Given the description of an element on the screen output the (x, y) to click on. 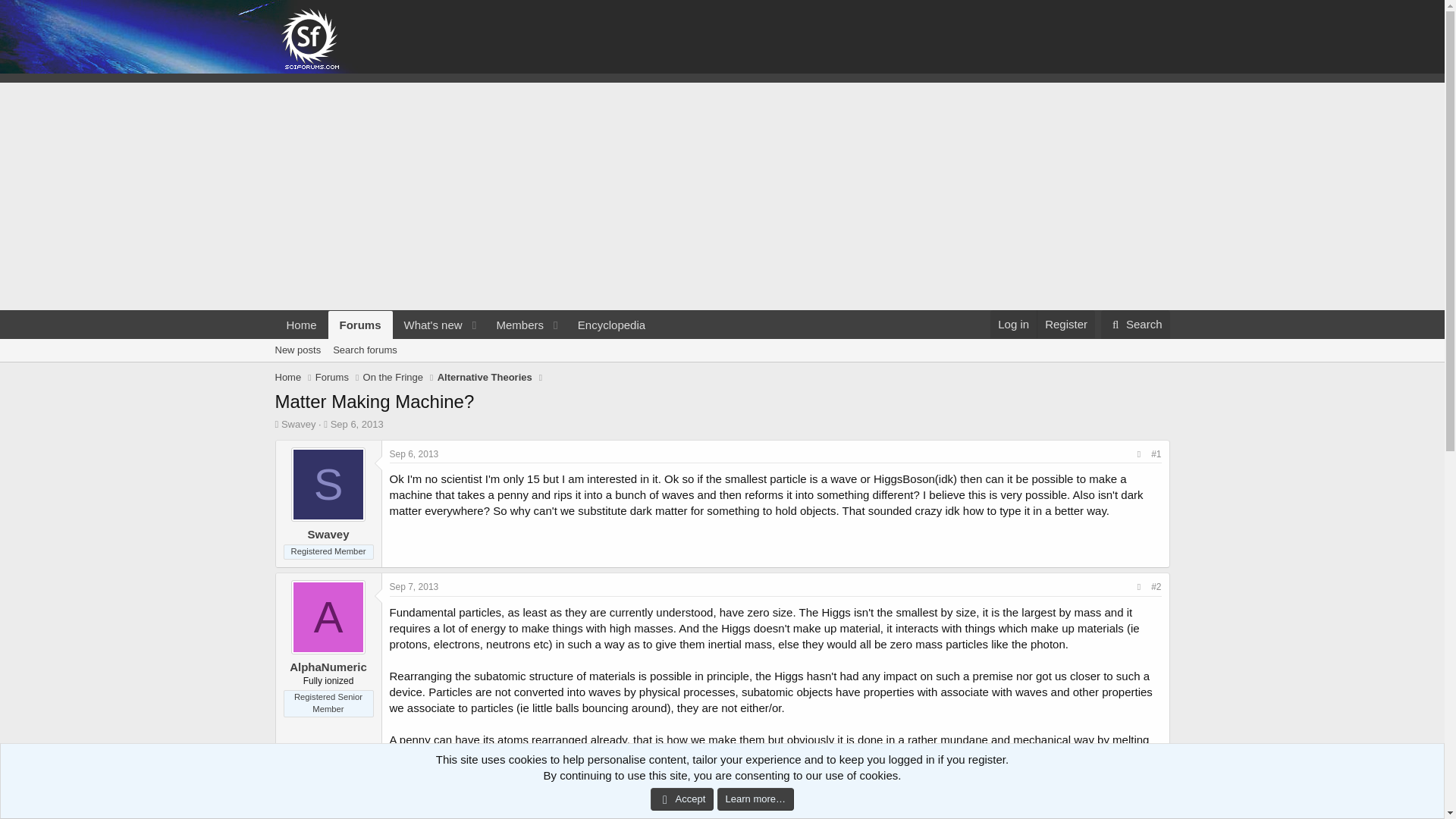
Log in (1013, 324)
Sep 6, 2013 (357, 423)
On the Fringe (392, 377)
Encyclopedia (611, 325)
Sep 7, 2013 at 1:48 AM (464, 325)
Register (414, 586)
Sep 6, 2013 at 10:30 PM (1065, 324)
Home (357, 423)
